Given the description of an element on the screen output the (x, y) to click on. 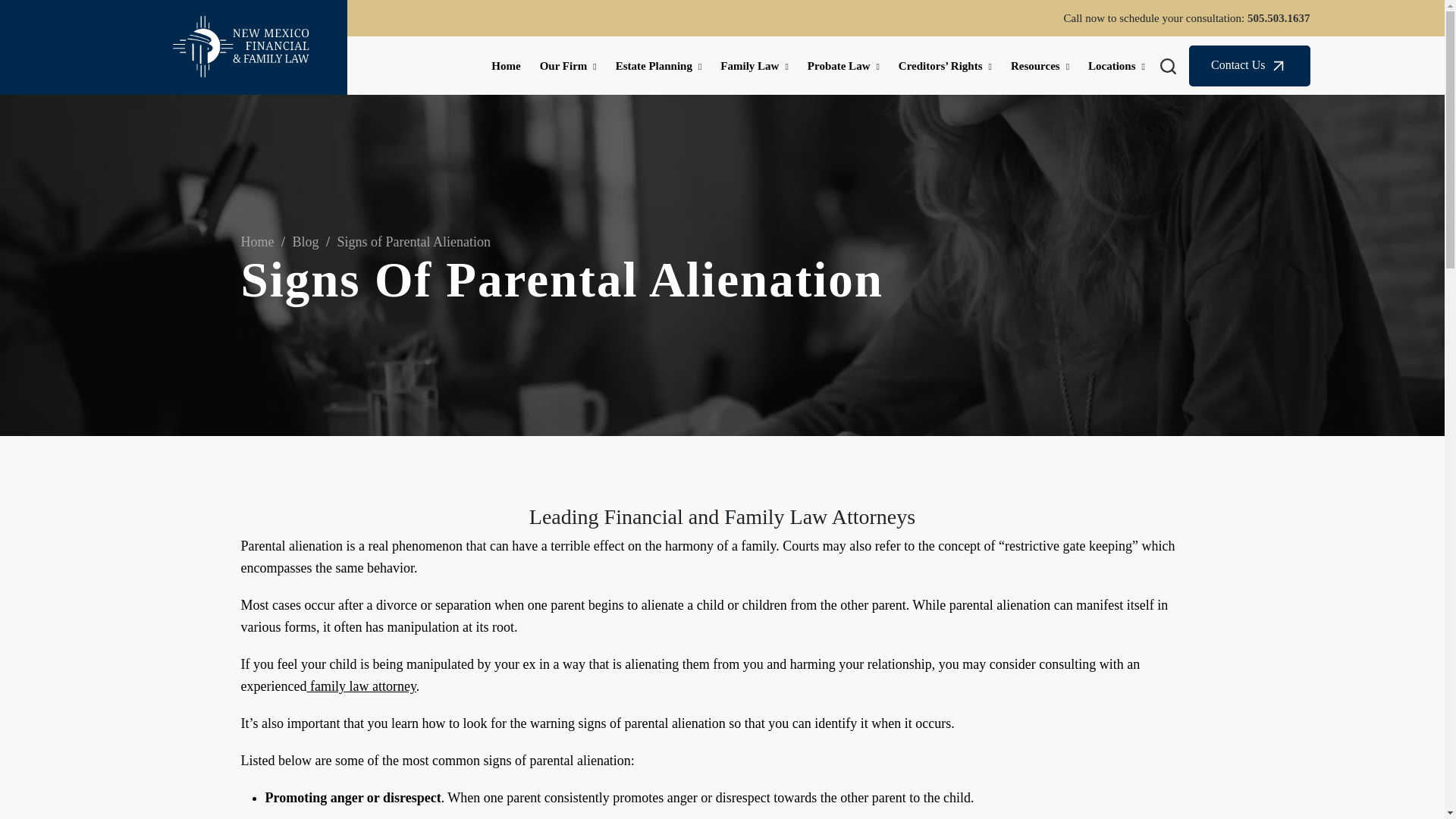
Probate Law (843, 65)
505.503.1637 (1278, 18)
Estate Planning (658, 65)
Family Law (754, 65)
Our Firm (567, 65)
